Given the description of an element on the screen output the (x, y) to click on. 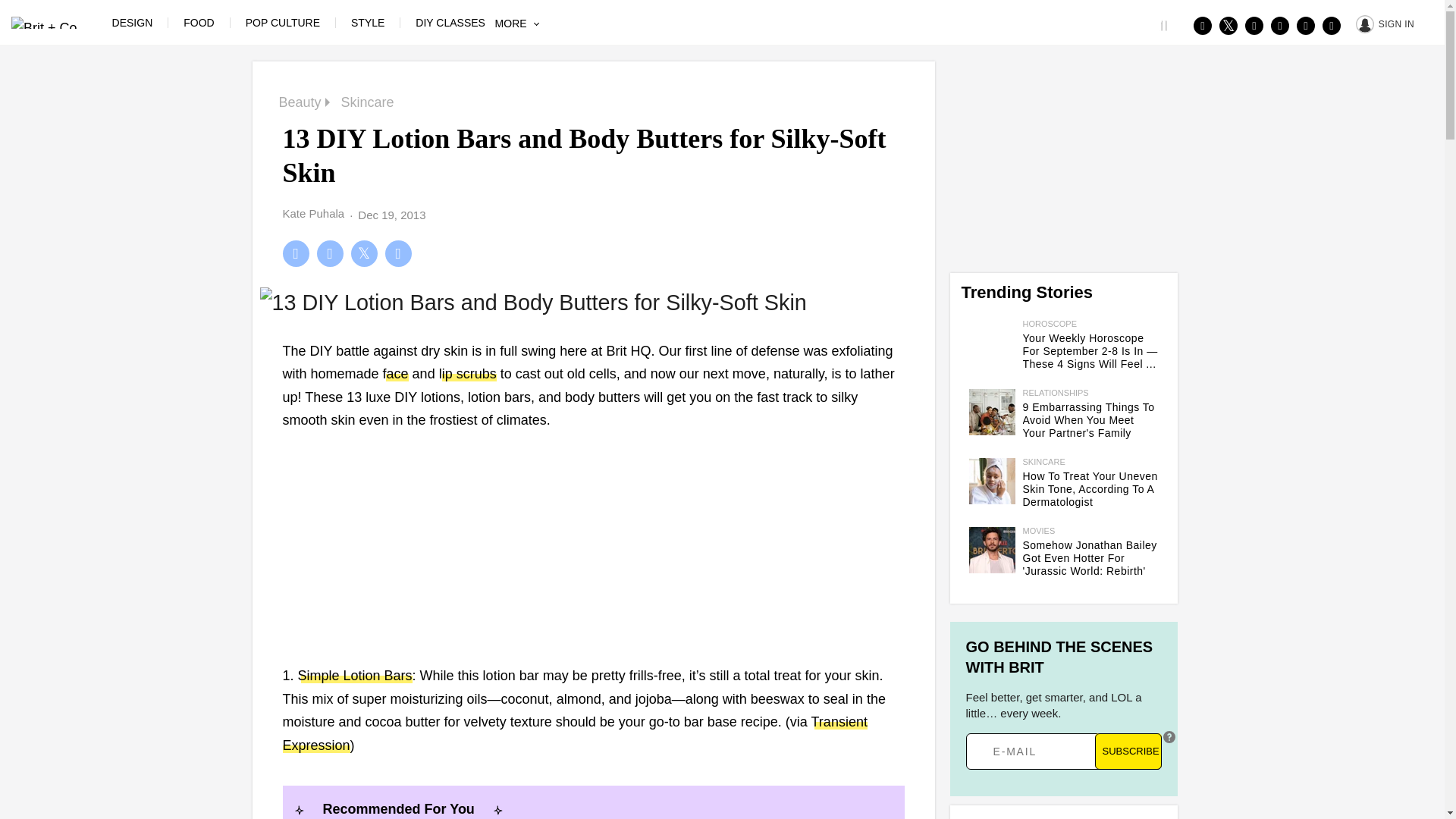
DESIGN (132, 22)
DIY CLASSES (449, 22)
STYLE (367, 22)
SIGN IN (1384, 23)
POP CULTURE (283, 22)
FOOD (198, 22)
